Given the description of an element on the screen output the (x, y) to click on. 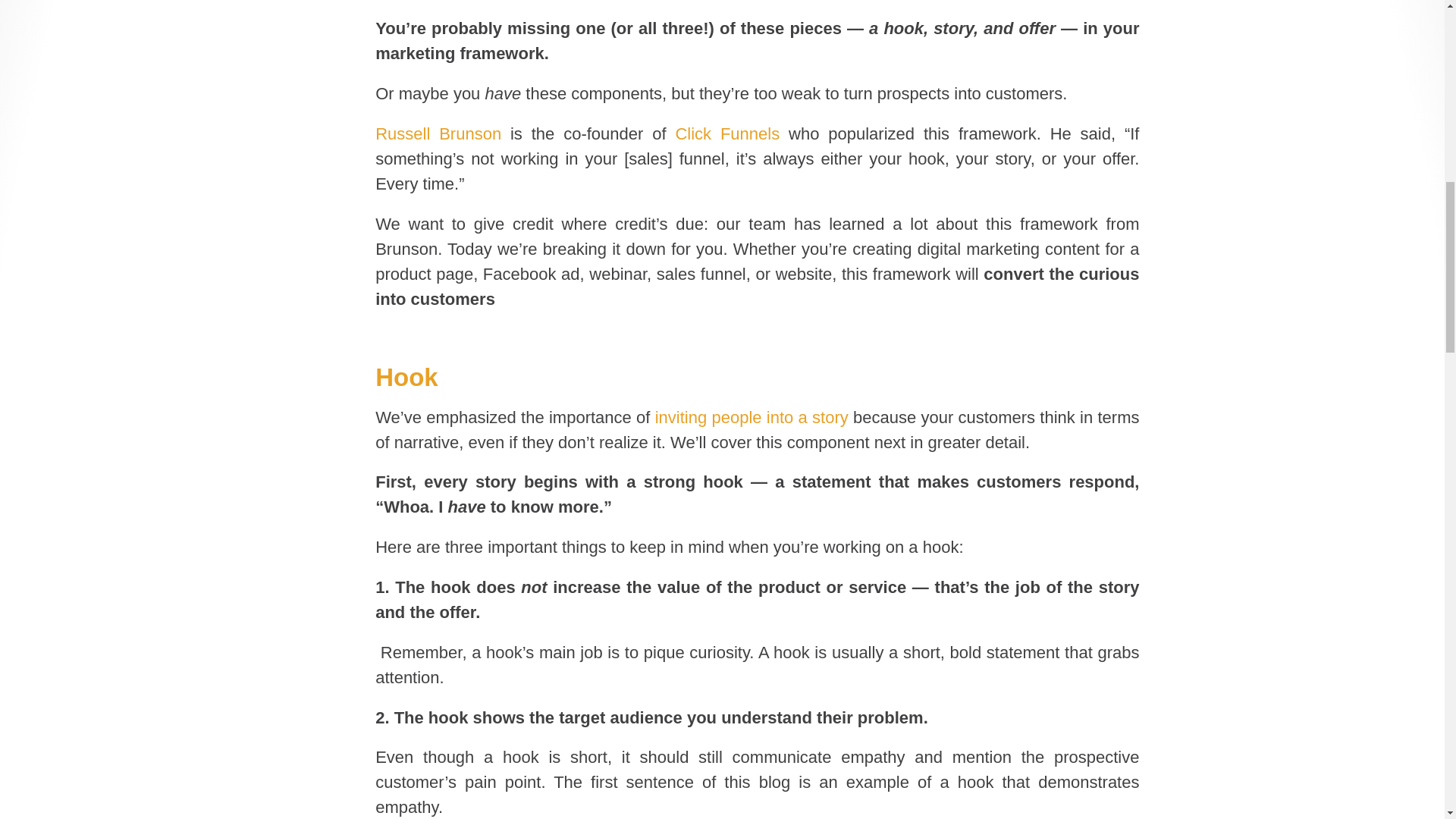
Click Funnels (726, 133)
inviting people into a story (751, 416)
Russell Brunson (437, 133)
